Given the description of an element on the screen output the (x, y) to click on. 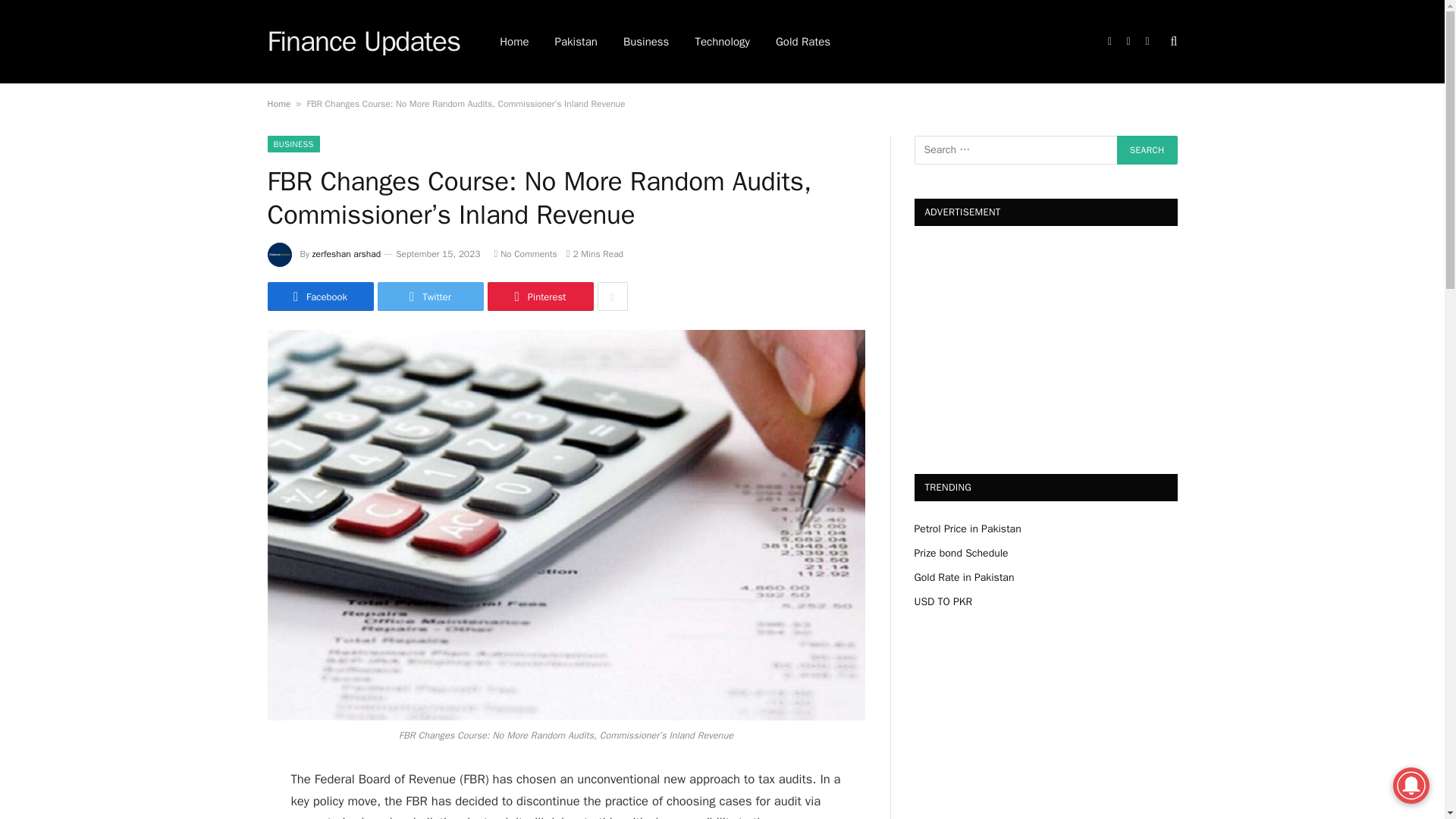
zerfeshan arshad (347, 254)
Finance Updates (363, 41)
BUSINESS (292, 143)
Home (277, 103)
Show More Social Sharing (611, 296)
Search (1146, 149)
Search (1146, 149)
Pinterest (539, 296)
Technology (721, 41)
Gold Rates (802, 41)
Posts by zerfeshan arshad (347, 254)
Twitter (430, 296)
Share on Facebook (319, 296)
No Comments (524, 254)
Facebook (319, 296)
